Given the description of an element on the screen output the (x, y) to click on. 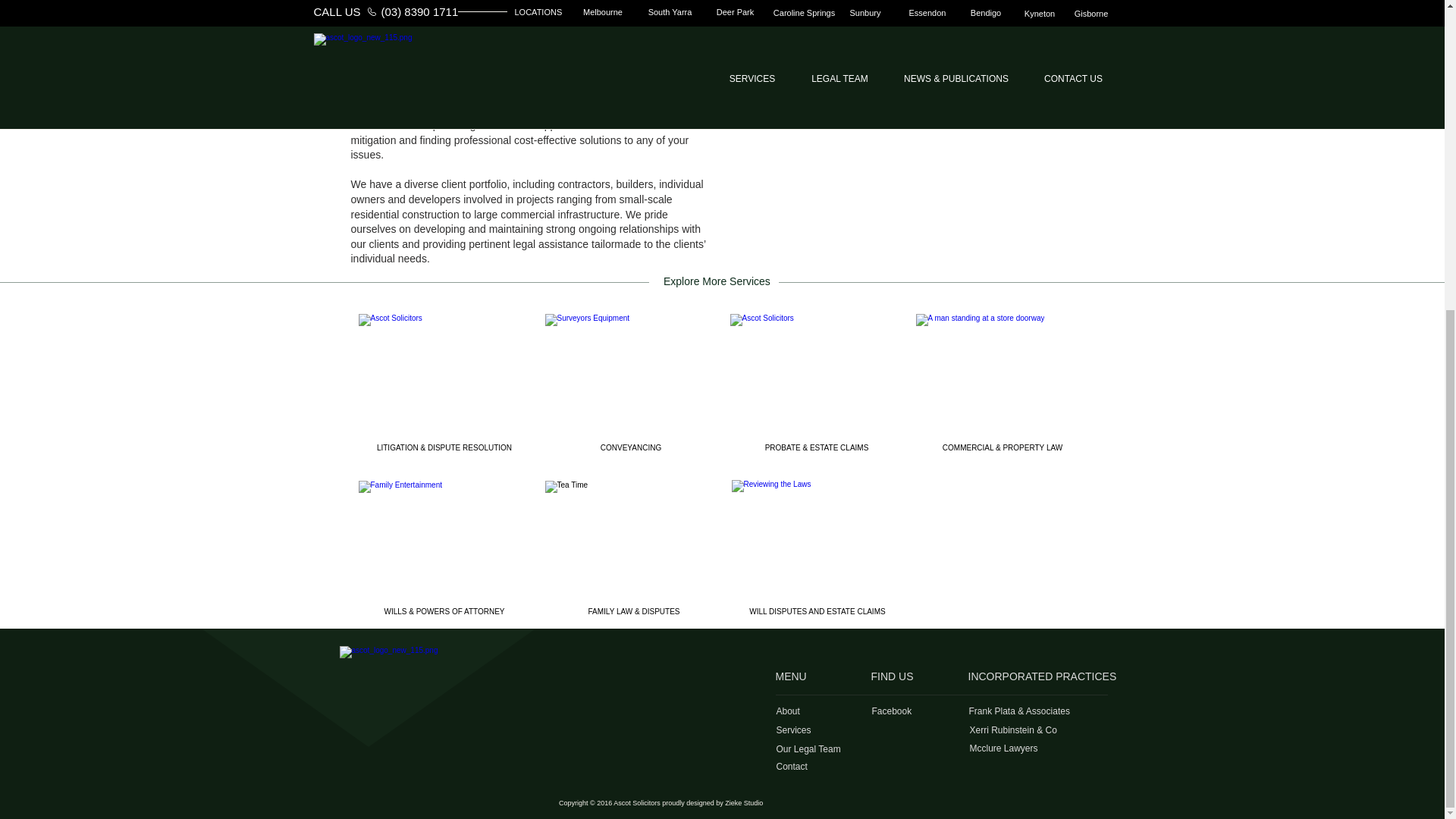
Facebook (924, 711)
Services (828, 730)
CONVEYANCING (630, 448)
WILL DISPUTES AND ESTATE CLAIMS (816, 612)
About (828, 711)
